Given the description of an element on the screen output the (x, y) to click on. 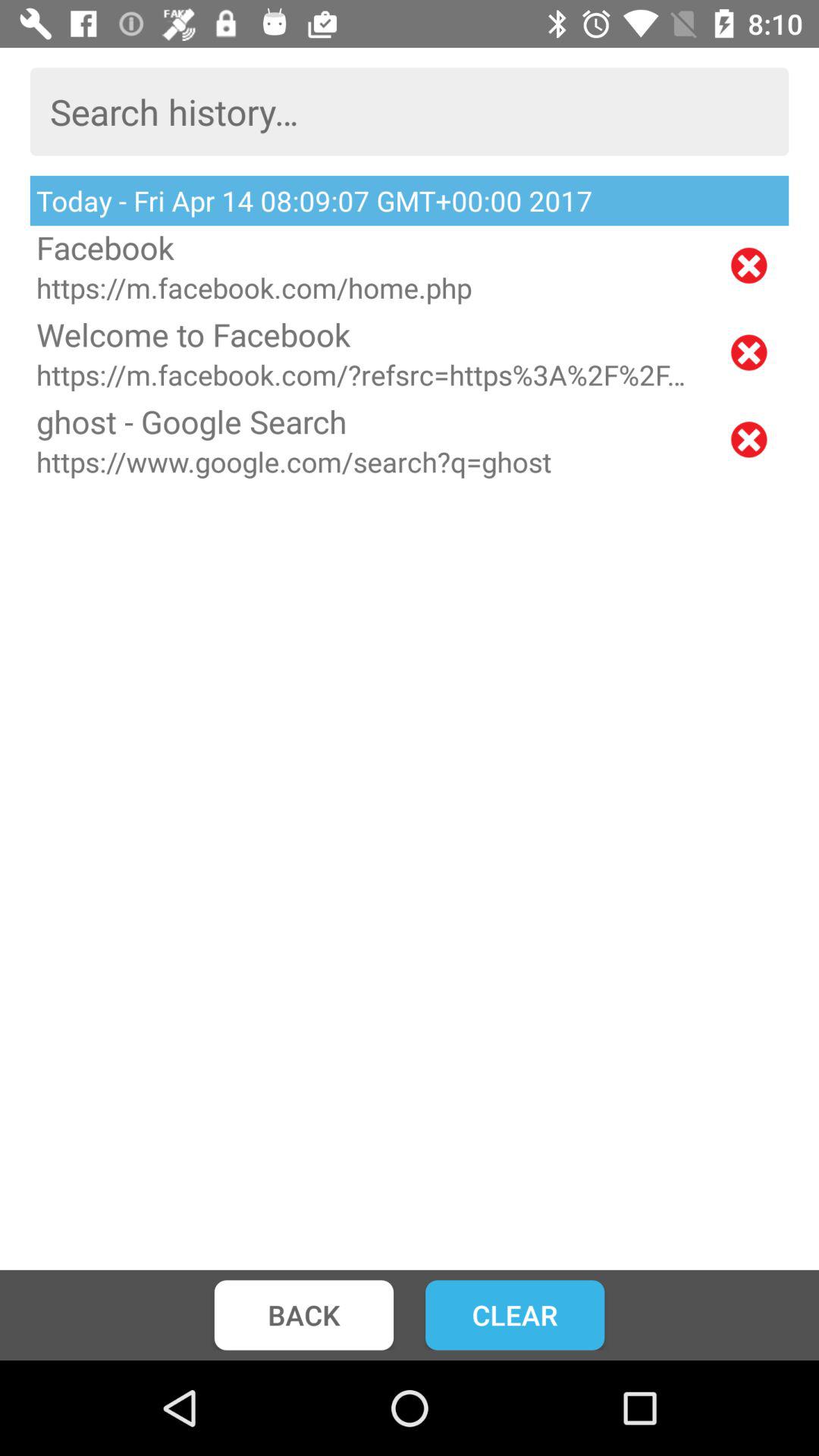
delete entry (748, 439)
